Given the description of an element on the screen output the (x, y) to click on. 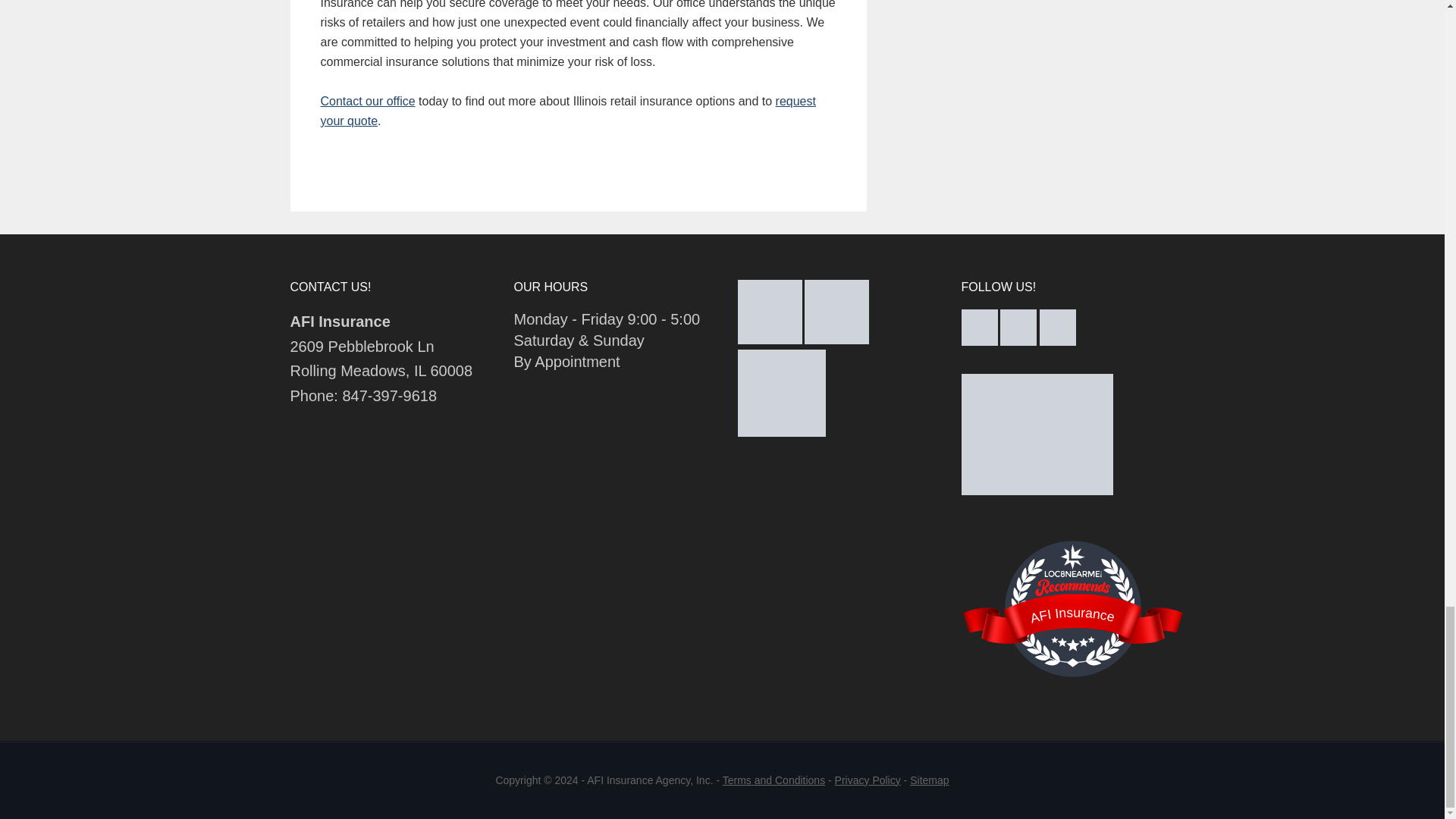
request your quote (567, 111)
Contact our office (367, 101)
AFI Insurance (1072, 613)
